Given the description of an element on the screen output the (x, y) to click on. 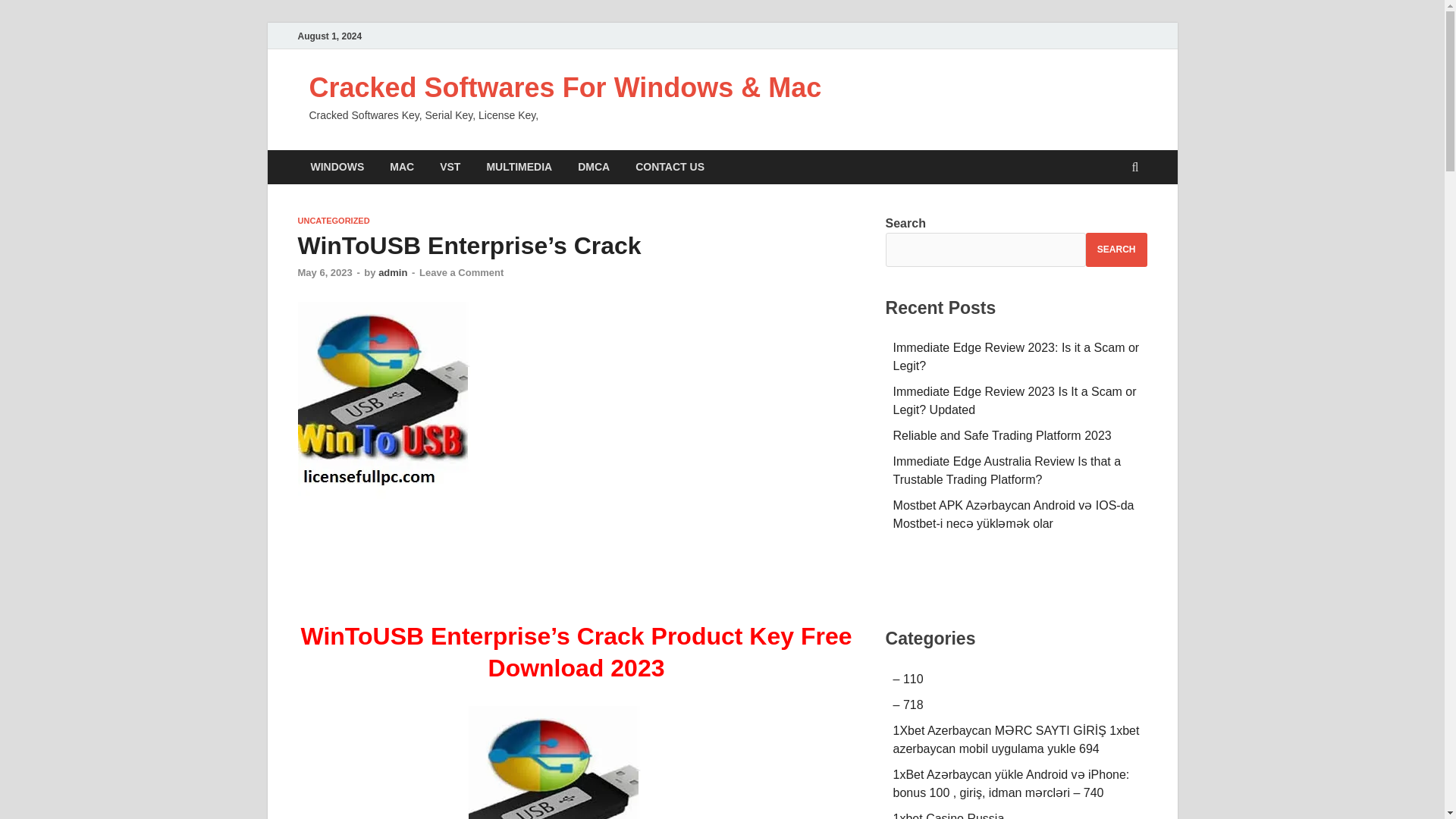
CONTACT US (670, 166)
MULTIMEDIA (518, 166)
Leave a Comment (461, 272)
DMCA (593, 166)
admin (392, 272)
MAC (401, 166)
May 6, 2023 (324, 272)
WINDOWS (337, 166)
UNCATEGORIZED (333, 220)
VST (449, 166)
